Given the description of an element on the screen output the (x, y) to click on. 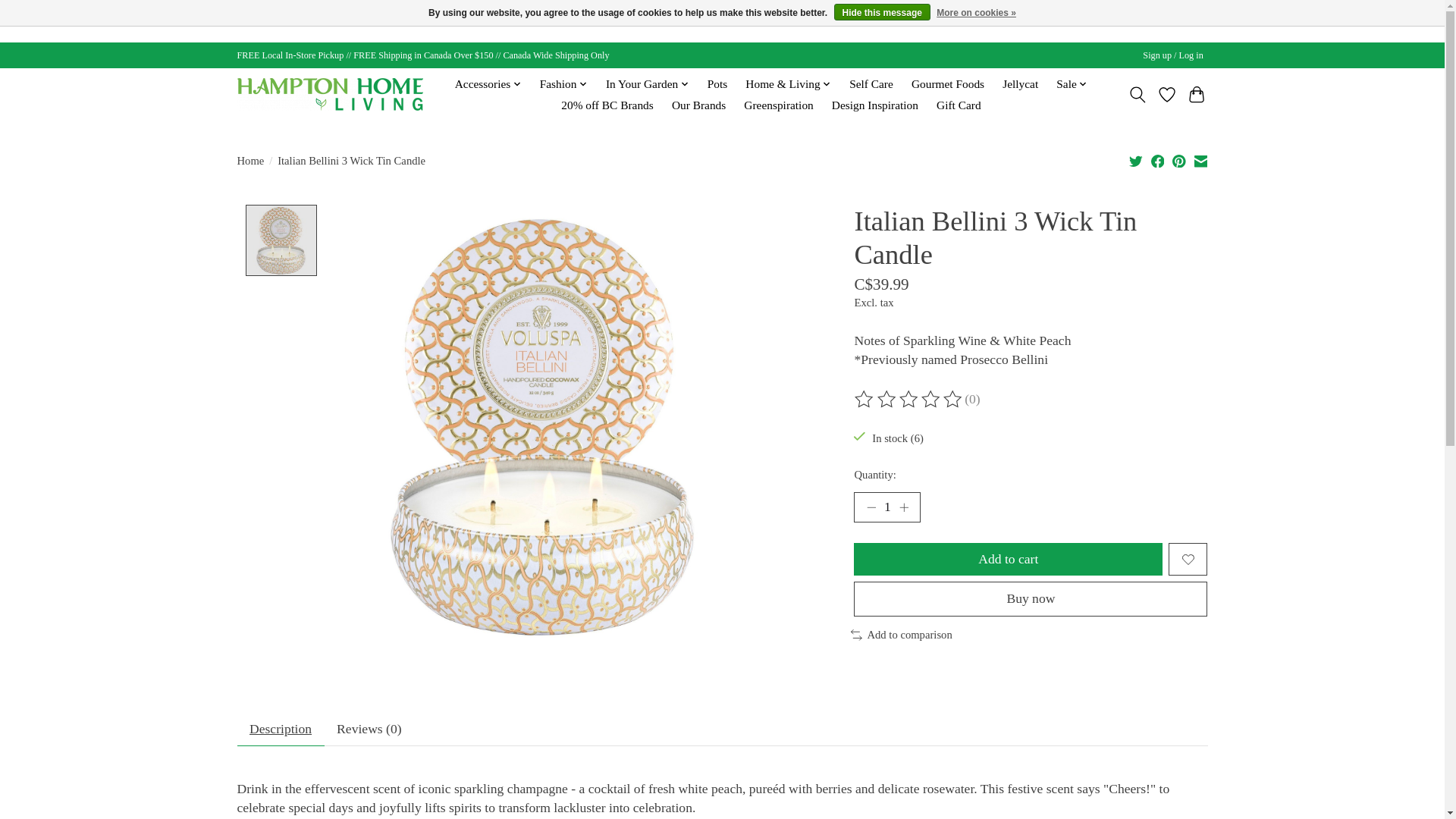
My account (1173, 55)
Accessories (488, 84)
1 (886, 507)
Fashion (563, 84)
